Given the description of an element on the screen output the (x, y) to click on. 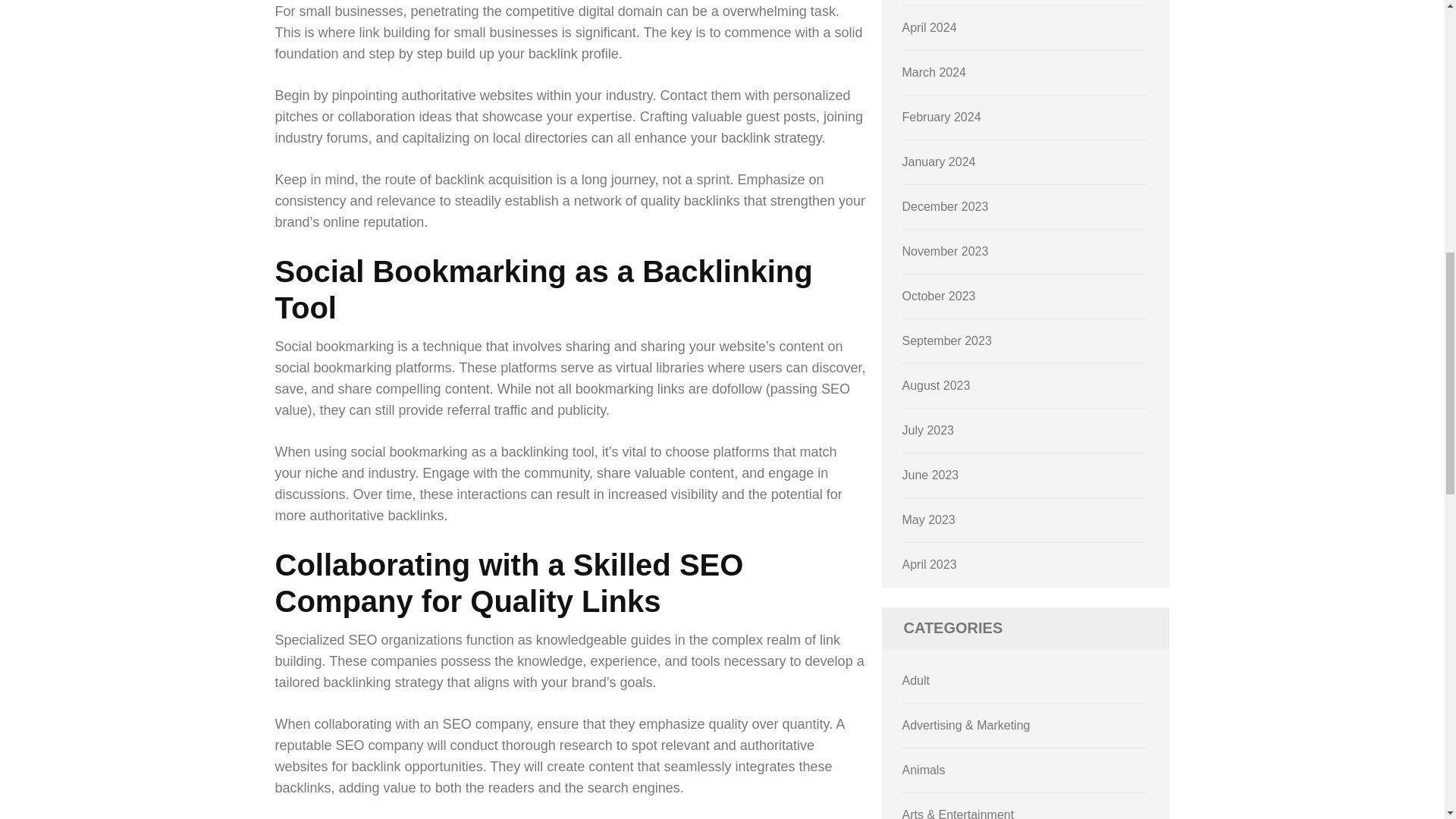
September 2023 (946, 340)
June 2023 (930, 474)
August 2023 (936, 385)
July 2023 (928, 430)
February 2024 (941, 116)
December 2023 (945, 205)
Animals (923, 769)
November 2023 (945, 250)
May 2023 (928, 519)
Adult (916, 680)
October 2023 (938, 295)
April 2023 (929, 563)
January 2024 (938, 161)
March 2024 (934, 72)
April 2024 (929, 27)
